Given the description of an element on the screen output the (x, y) to click on. 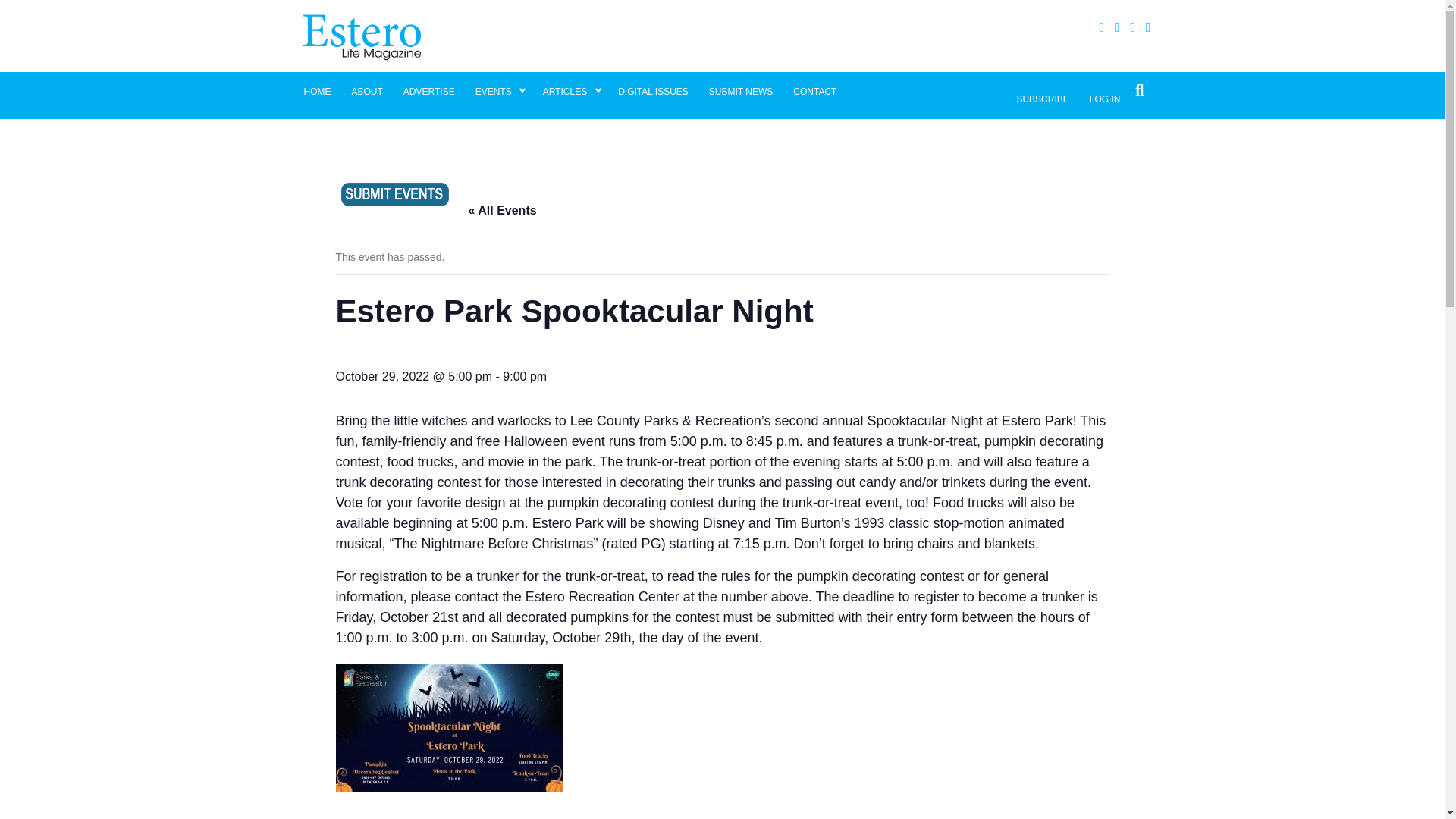
ABOUT (365, 91)
EVENTS (498, 91)
HOME (317, 91)
ARTICLES (569, 91)
ADVERTISE (428, 91)
